Given the description of an element on the screen output the (x, y) to click on. 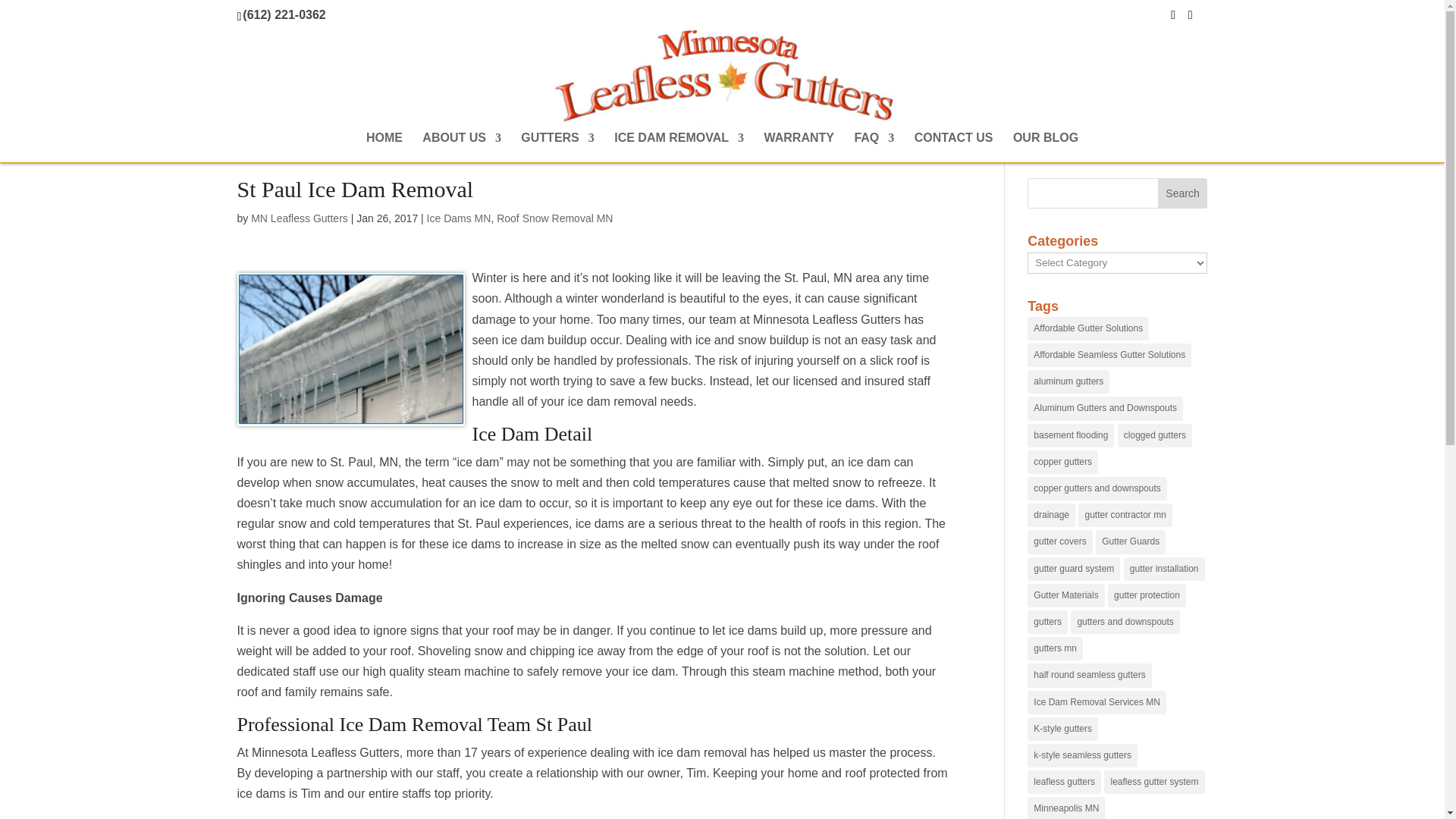
WARRANTY (799, 147)
Affordable Gutter Solutions (1087, 328)
HOME (384, 147)
Roof Snow Removal MN (554, 218)
copper gutters (1062, 462)
MN Leafless Gutters (298, 218)
gutter covers (1059, 541)
Search (1182, 193)
gutter contractor mn (1125, 515)
Professional Ice Dam Removal Team St Paul (413, 724)
drainage (1051, 515)
Gutter Guards (1131, 541)
Search (1182, 193)
CONTACT US (953, 147)
aluminum gutters (1068, 381)
